Given the description of an element on the screen output the (x, y) to click on. 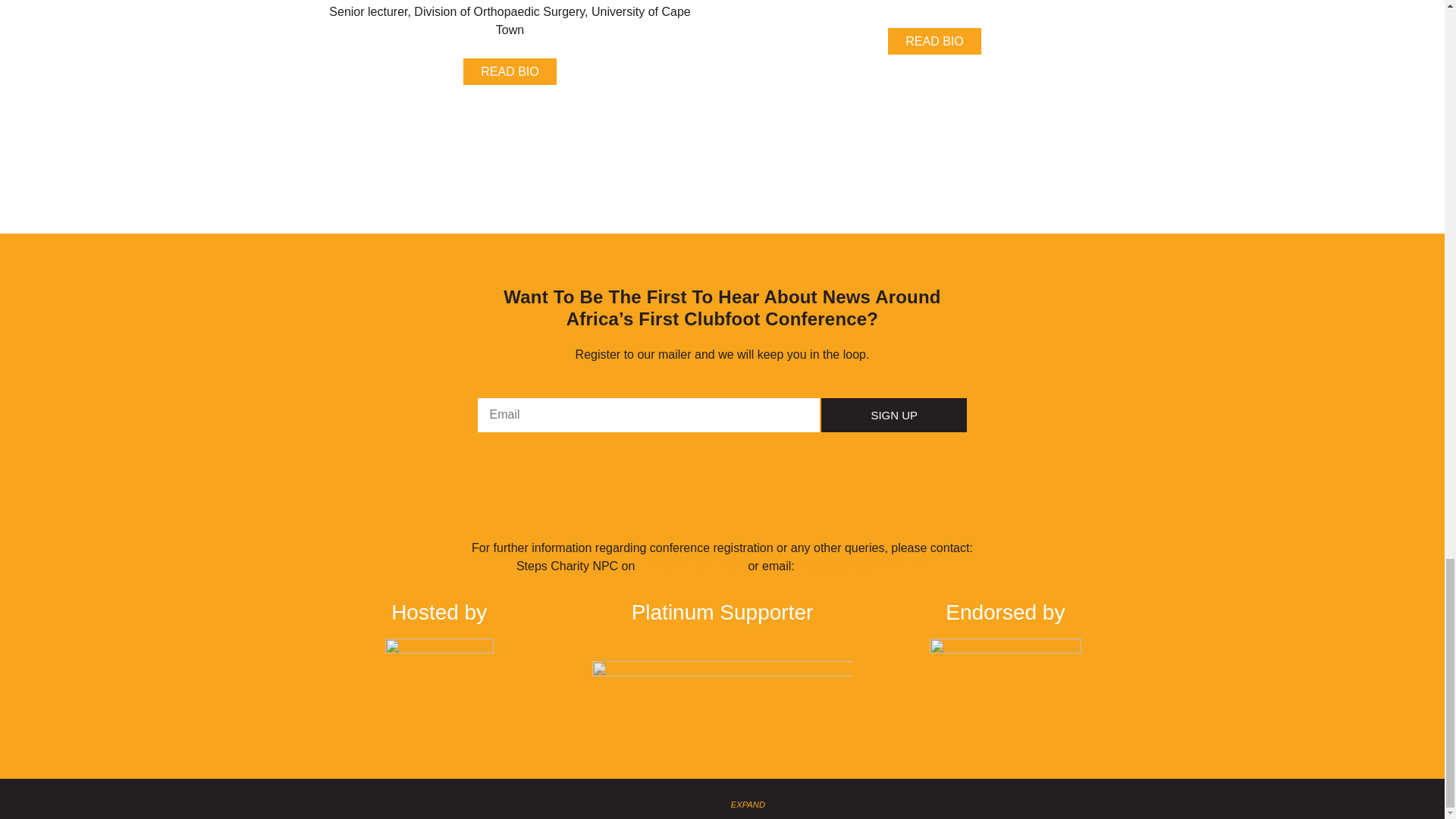
READ BIO (509, 71)
SIGN UP (894, 415)
EXPAND (747, 804)
READ BIO (933, 40)
